Given the description of an element on the screen output the (x, y) to click on. 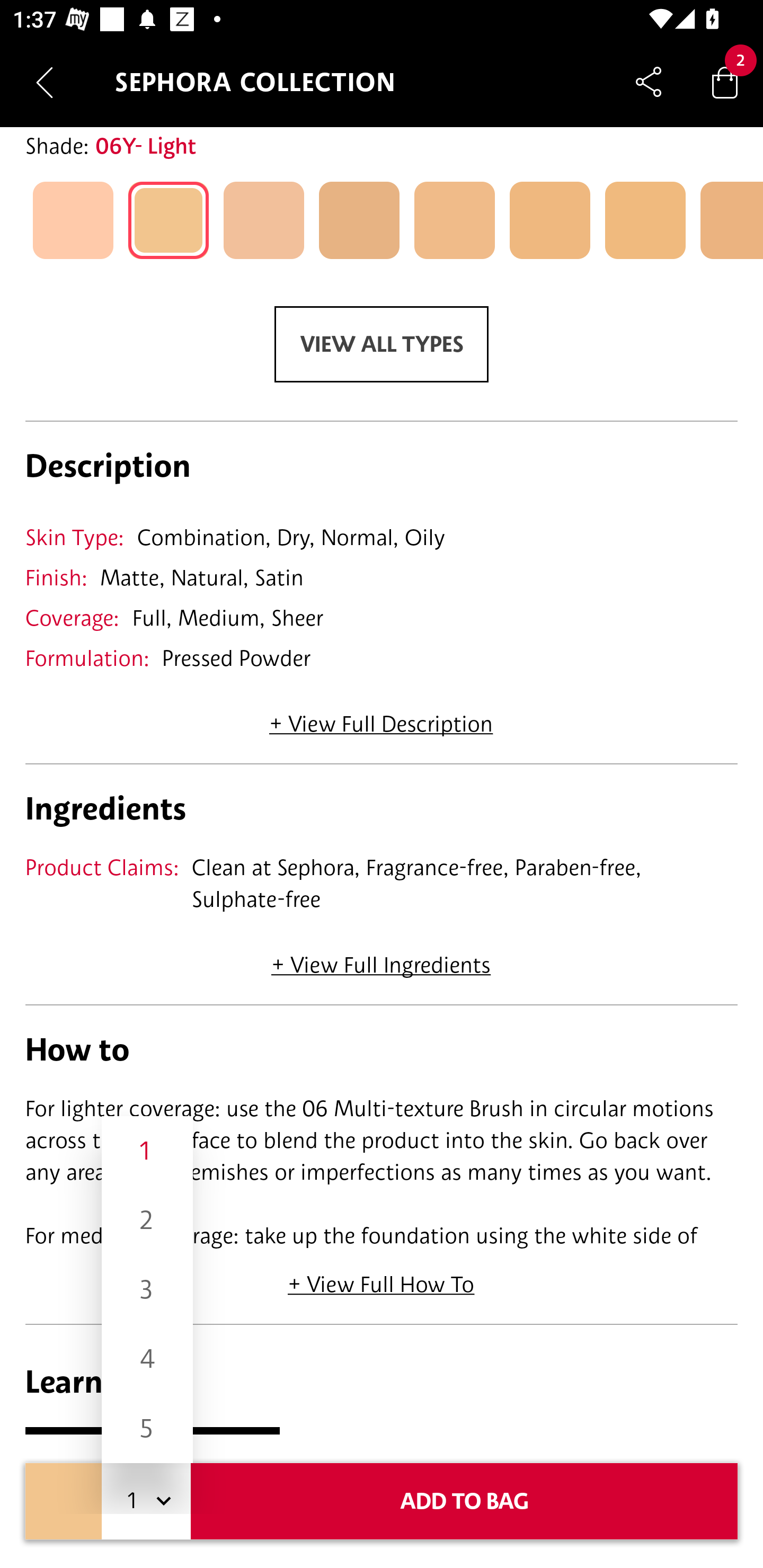
1 (147, 1150)
2 (147, 1219)
3 (147, 1289)
4 (147, 1358)
5 (147, 1427)
